Given the description of an element on the screen output the (x, y) to click on. 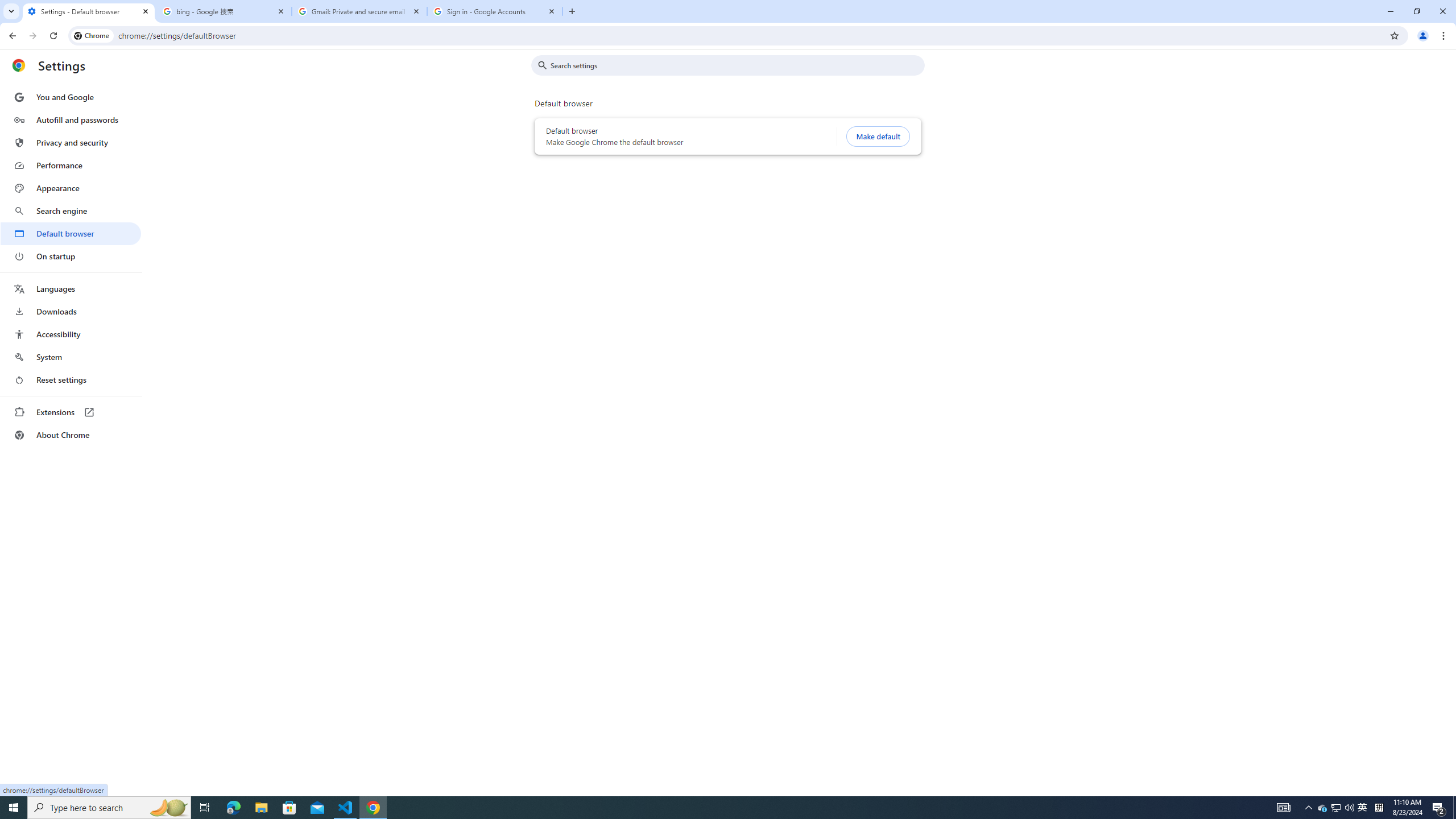
Appearance (70, 187)
Default browser (70, 233)
Search engine (70, 210)
Languages (70, 288)
Extensions (70, 412)
Performance (70, 164)
Settings - Default browser (88, 11)
About Chrome (70, 434)
